Given the description of an element on the screen output the (x, y) to click on. 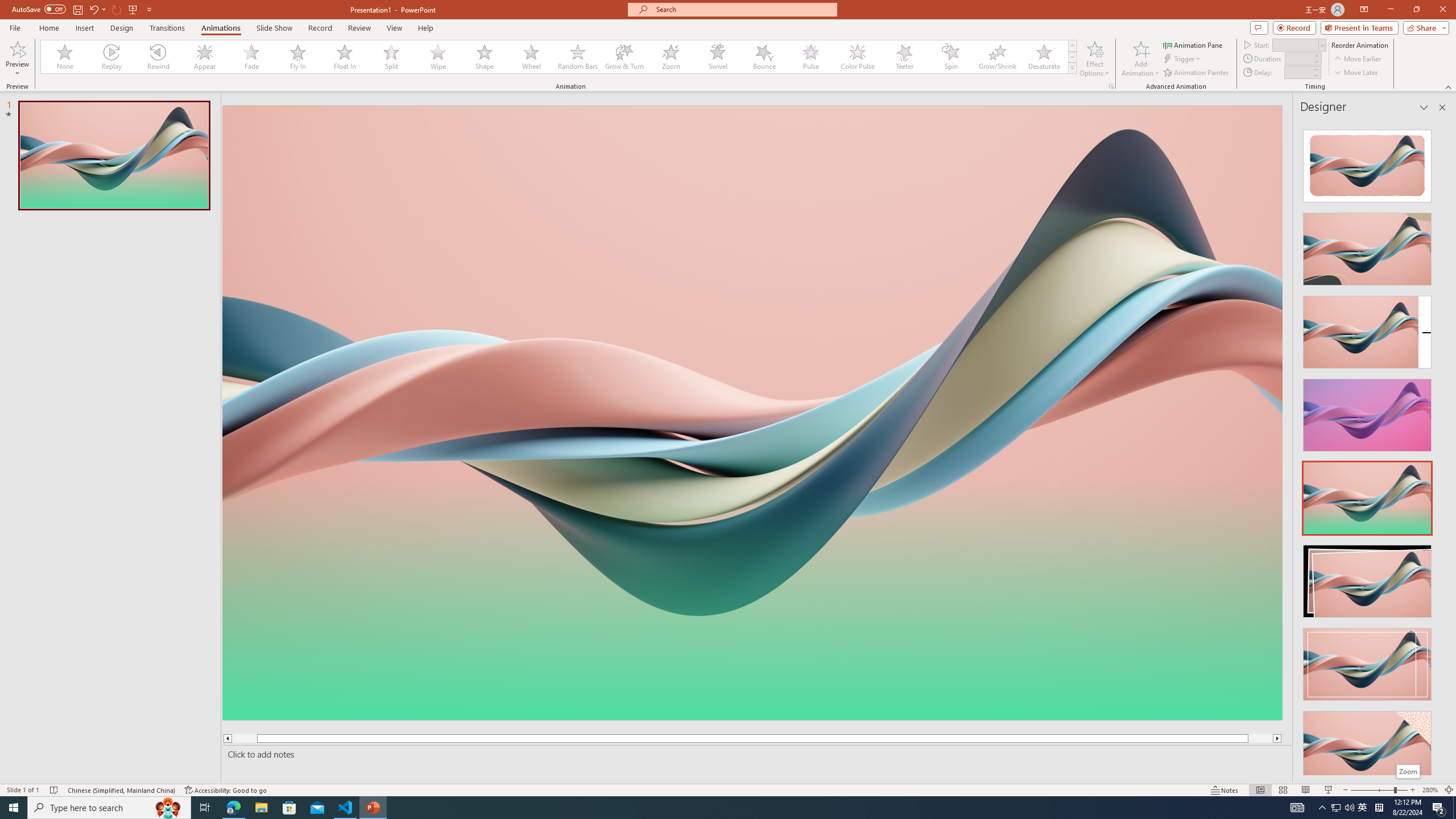
Split (391, 56)
Color Pulse (857, 56)
Animation Styles (1071, 67)
Effect Options (1094, 58)
Spin (950, 56)
More Options... (1110, 85)
